Given the description of an element on the screen output the (x, y) to click on. 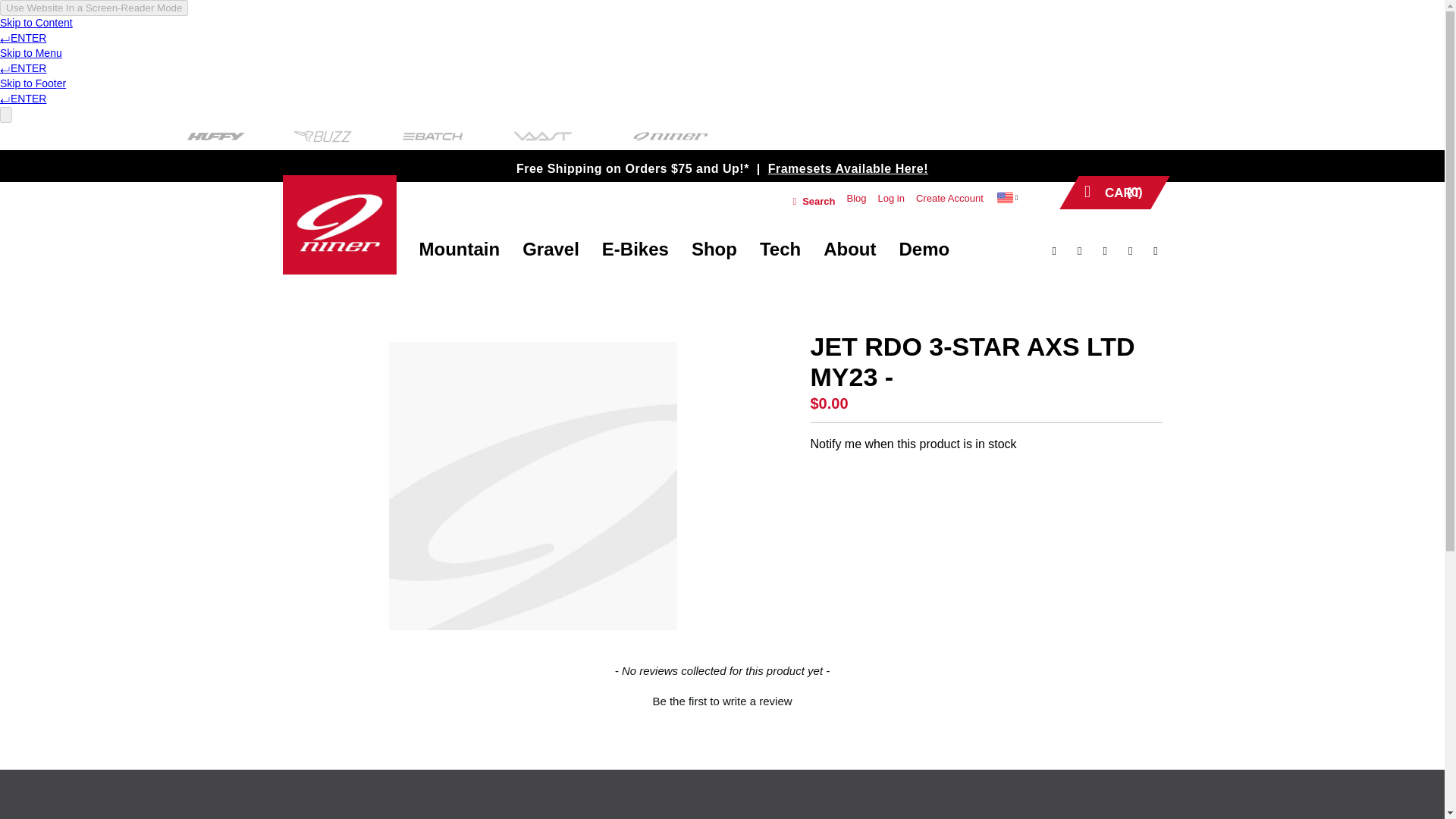
E-Bikes (635, 248)
Gravel (550, 248)
Create Account (949, 198)
YouTube - Niner Bikes (1125, 250)
Niner Bikes (339, 224)
Twitter - Niner Bikes (1074, 250)
Framesets Available Here! (848, 165)
Instagram - Niner Bikes (1150, 250)
Shop (713, 248)
Tech (780, 248)
Mountain (458, 248)
Log in (890, 198)
Demo (923, 248)
Blog (855, 198)
About (849, 248)
